Given the description of an element on the screen output the (x, y) to click on. 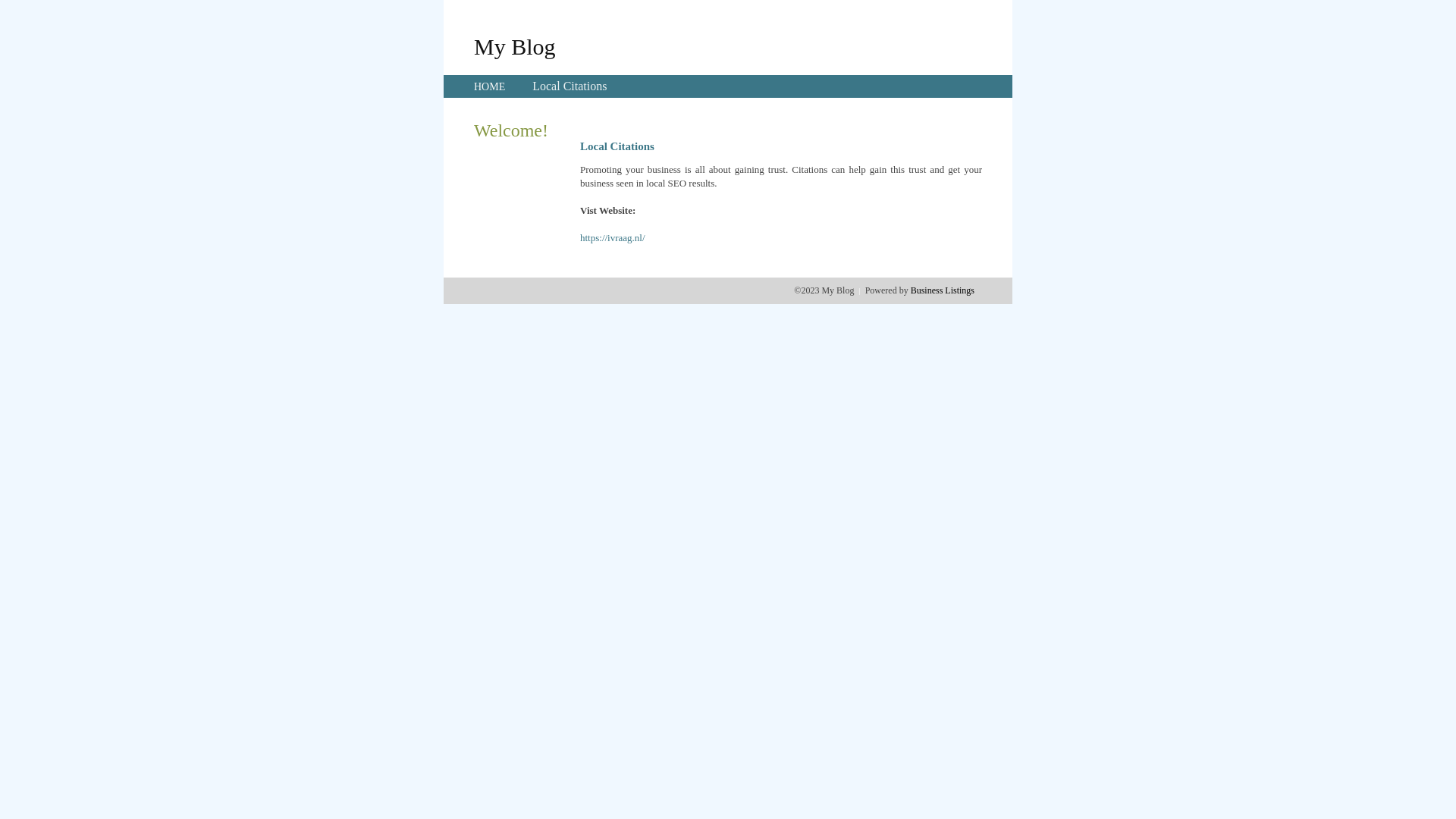
Local Citations Element type: text (569, 85)
HOME Element type: text (489, 86)
https://ivraag.nl/ Element type: text (612, 237)
My Blog Element type: text (514, 46)
Business Listings Element type: text (942, 290)
